Given the description of an element on the screen output the (x, y) to click on. 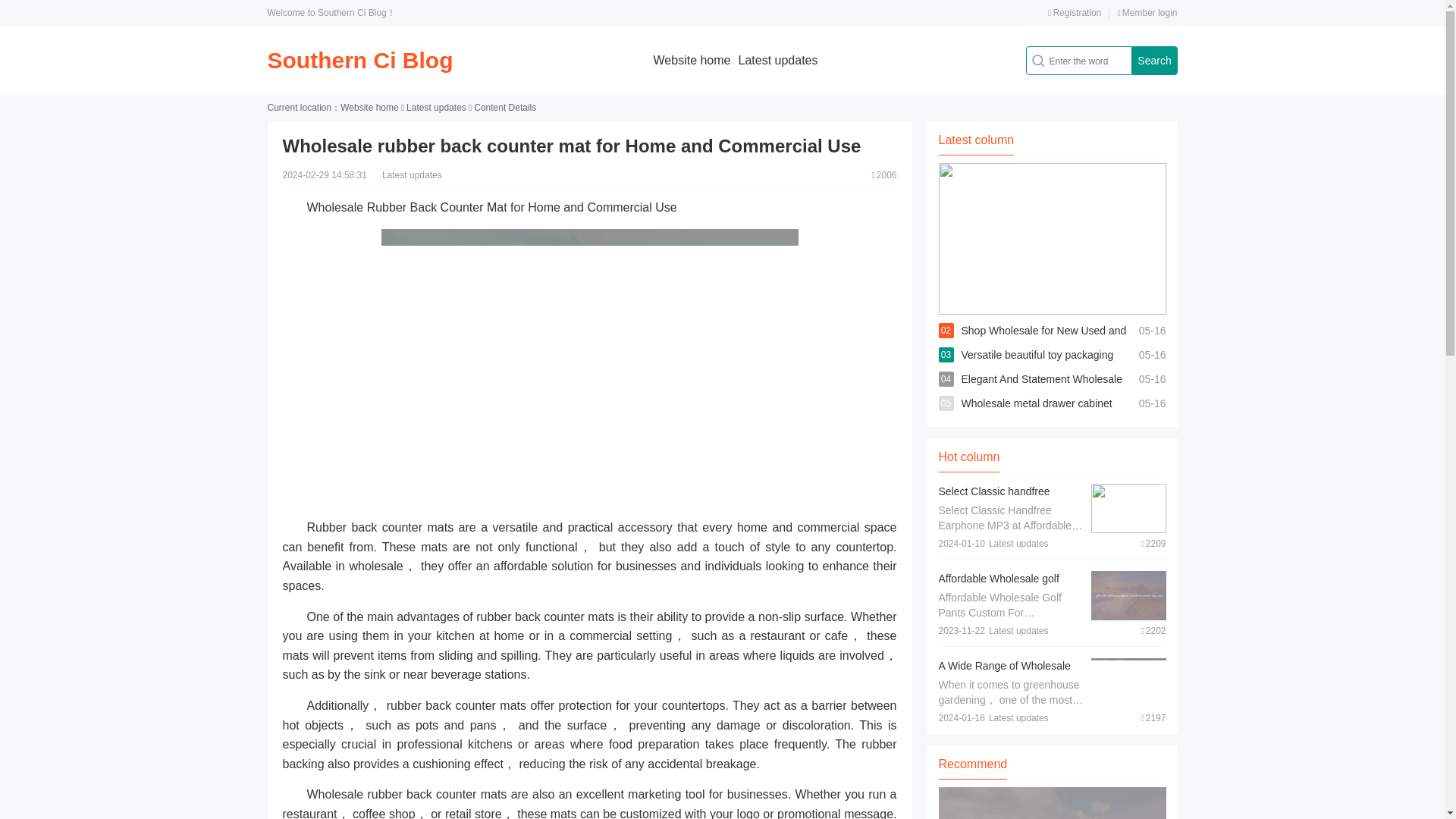
Website home (368, 107)
Latest updates (435, 107)
Website home (691, 60)
Select Classic handfree earphone mp3 At Affordable Prices (1004, 506)
Versatile beautiful toy packaging boxes Items (1036, 366)
Member login (1146, 12)
Southern Ci Blog (359, 59)
Search (1153, 60)
